Given the description of an element on the screen output the (x, y) to click on. 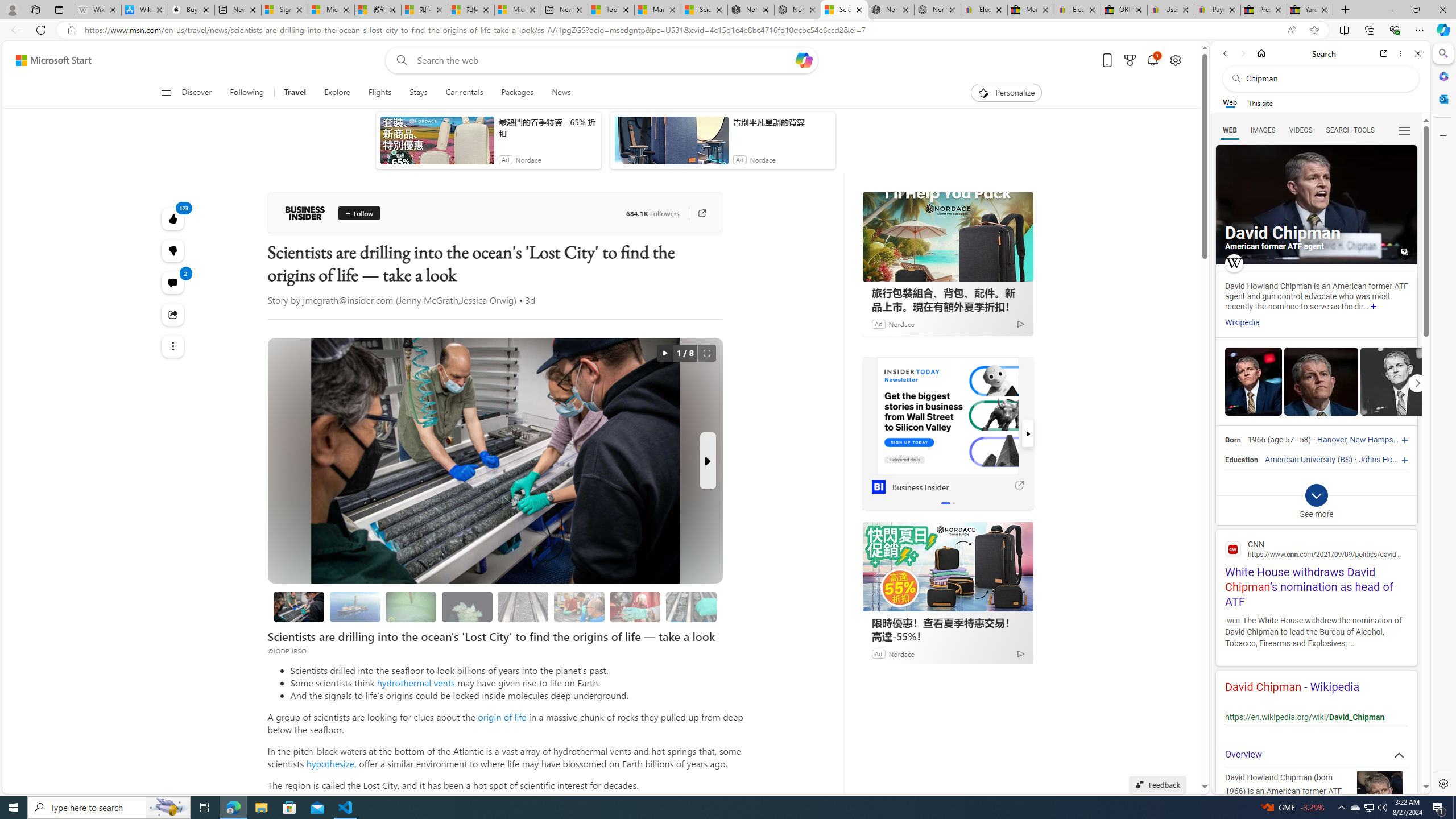
Education (1240, 459)
Looking for evidence of oxygen-free life (578, 606)
Stays (418, 92)
123 Like (172, 218)
The Lost City could hold clues to the origin of life. (466, 606)
Overview (1315, 755)
Looking for evidence of oxygen-free life (579, 606)
